Given the description of an element on the screen output the (x, y) to click on. 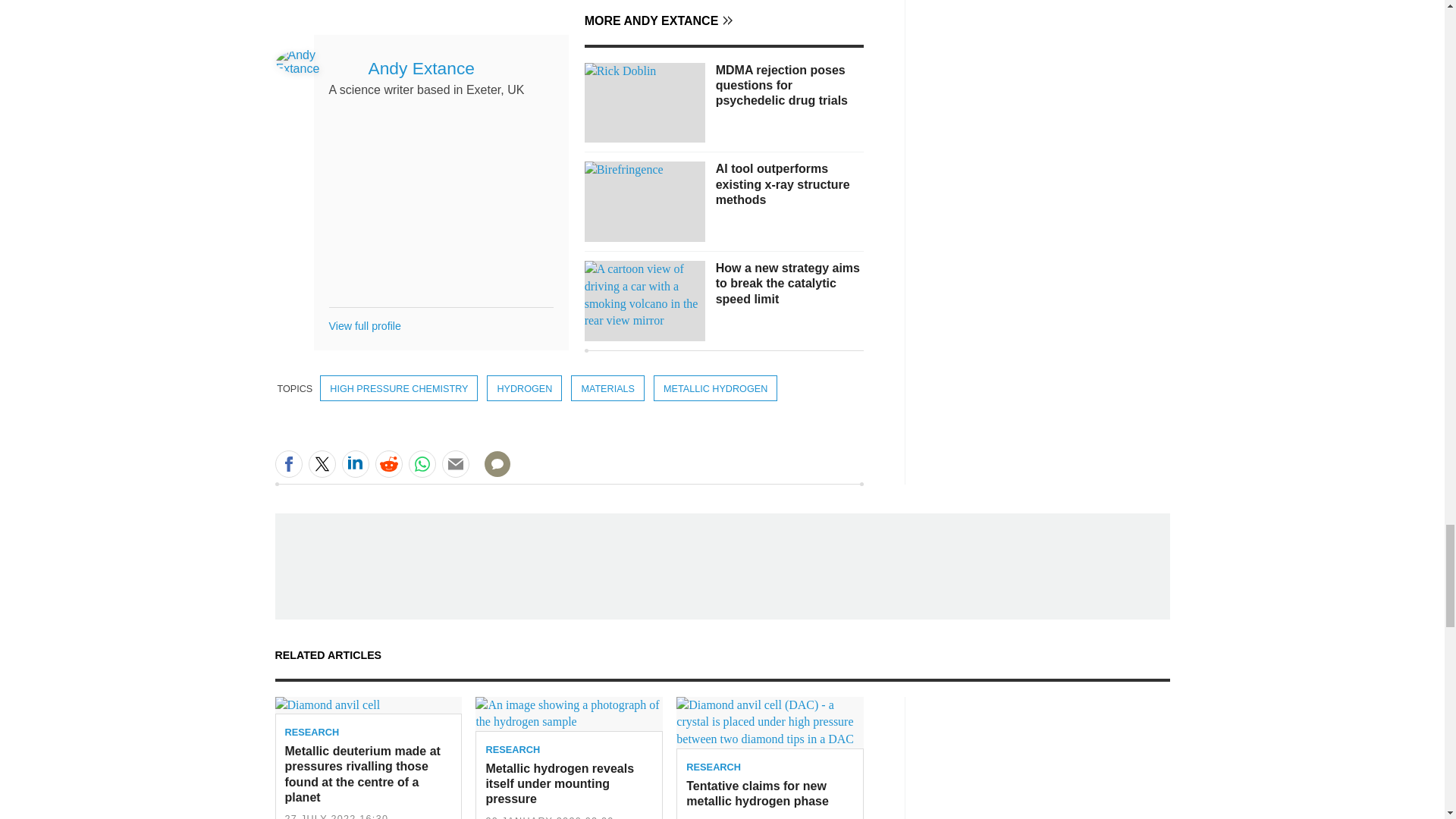
Share this by email (454, 463)
Share this on WhatsApp (421, 463)
Share this on Facebook (288, 463)
NO COMMENTS (492, 473)
Share this on LinkedIn (354, 463)
Share this on Reddit (387, 463)
